Given the description of an element on the screen output the (x, y) to click on. 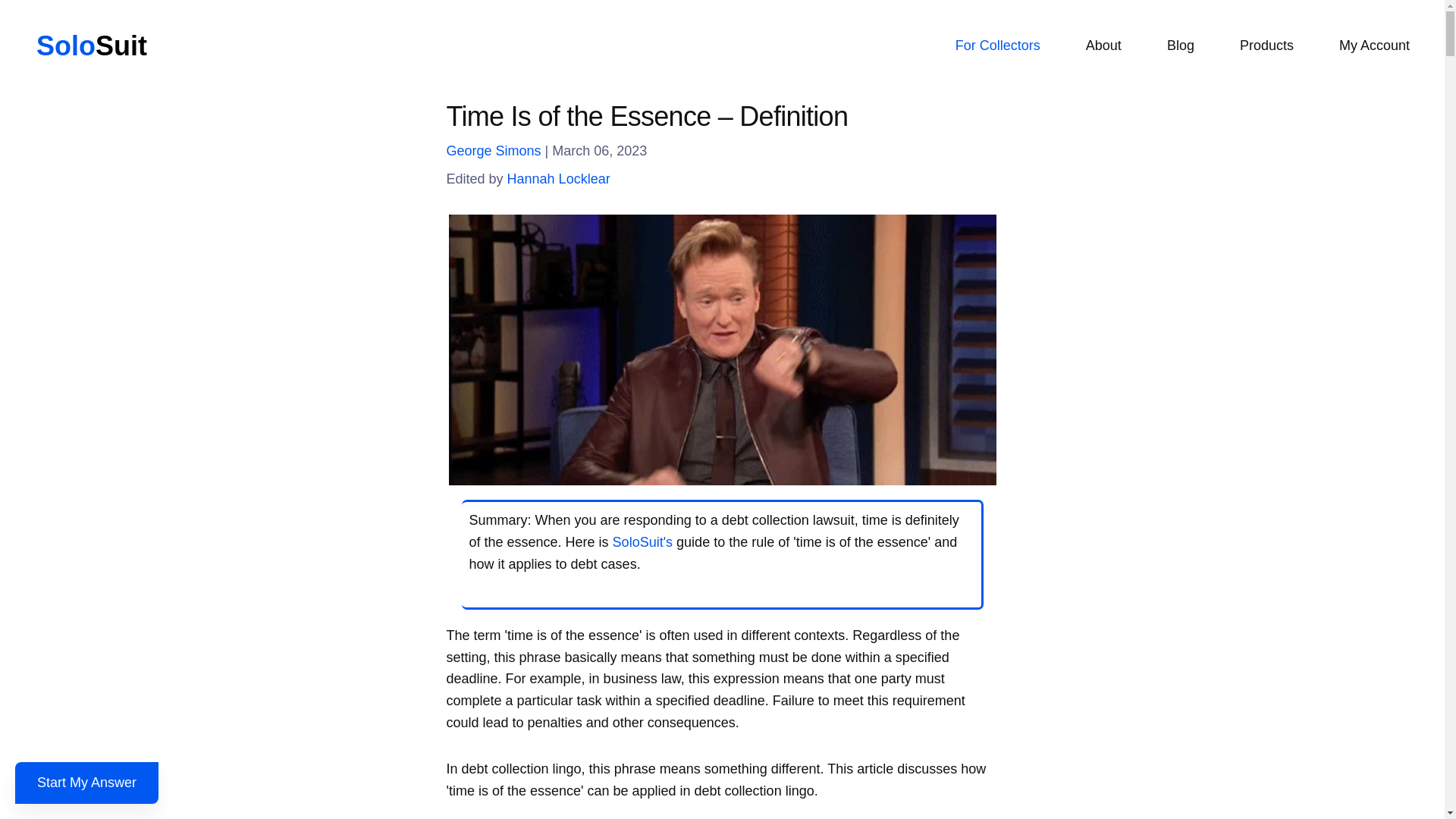
Blog (1180, 45)
Products (1266, 45)
SoloSuit's (642, 541)
George Simons (492, 150)
SoloSuit (91, 45)
My Account (1374, 45)
For Collectors (997, 45)
Hannah Locklear (558, 178)
Start My Answer (86, 782)
About (1103, 45)
